Given the description of an element on the screen output the (x, y) to click on. 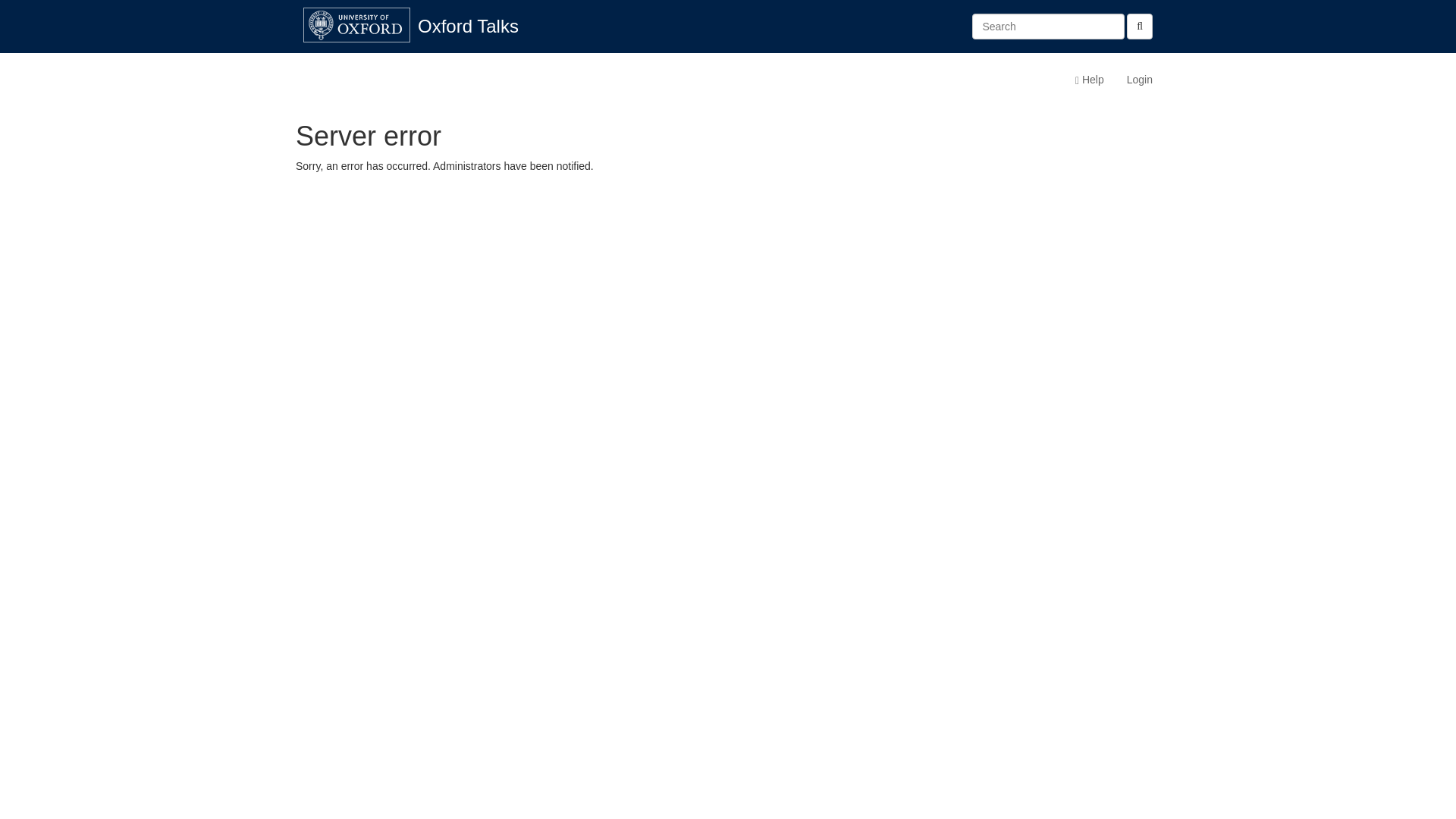
Oxford Talks (467, 26)
Help (1089, 79)
Login (1139, 79)
